Given the description of an element on the screen output the (x, y) to click on. 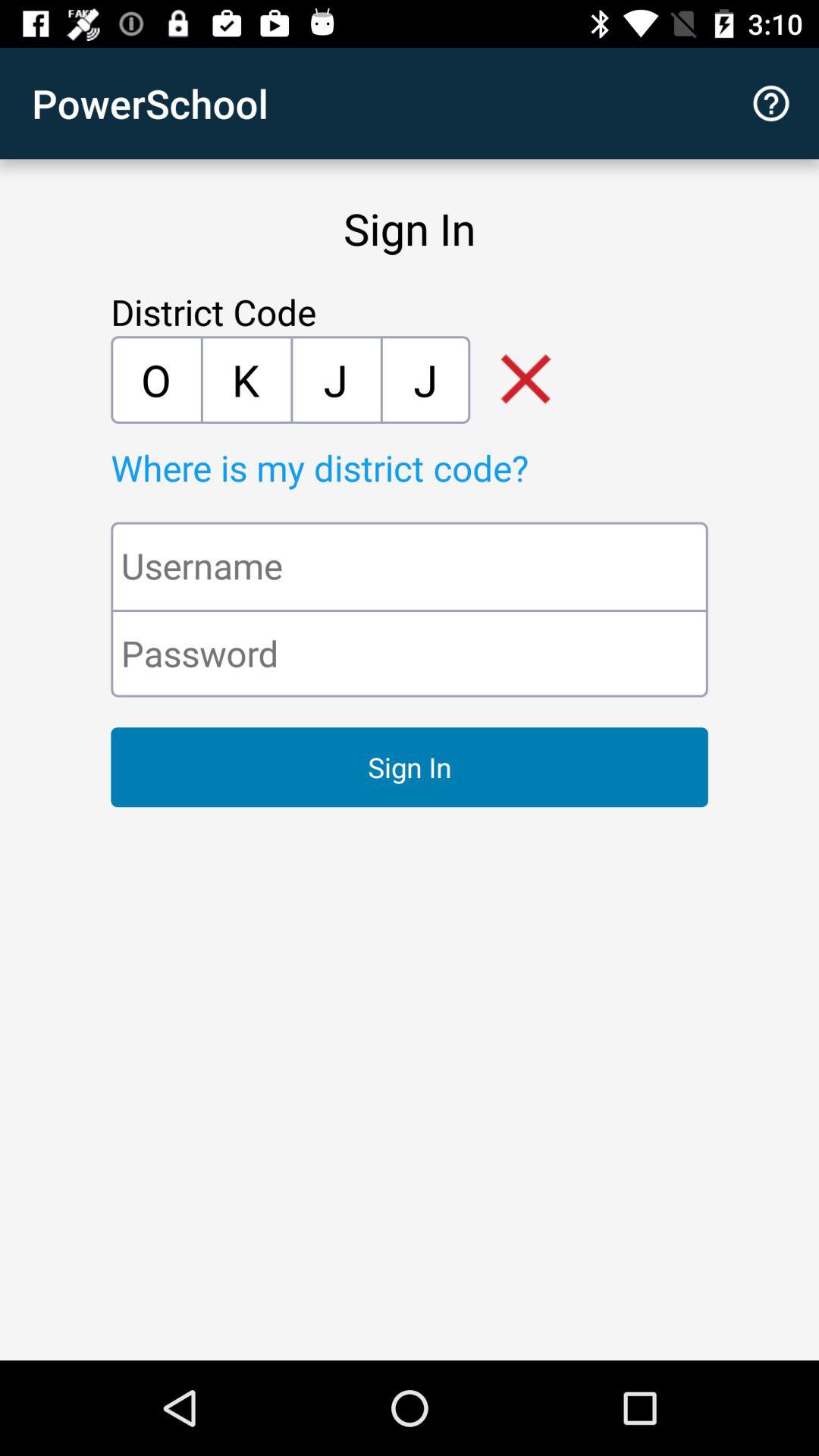
jump until the o (155, 379)
